Given the description of an element on the screen output the (x, y) to click on. 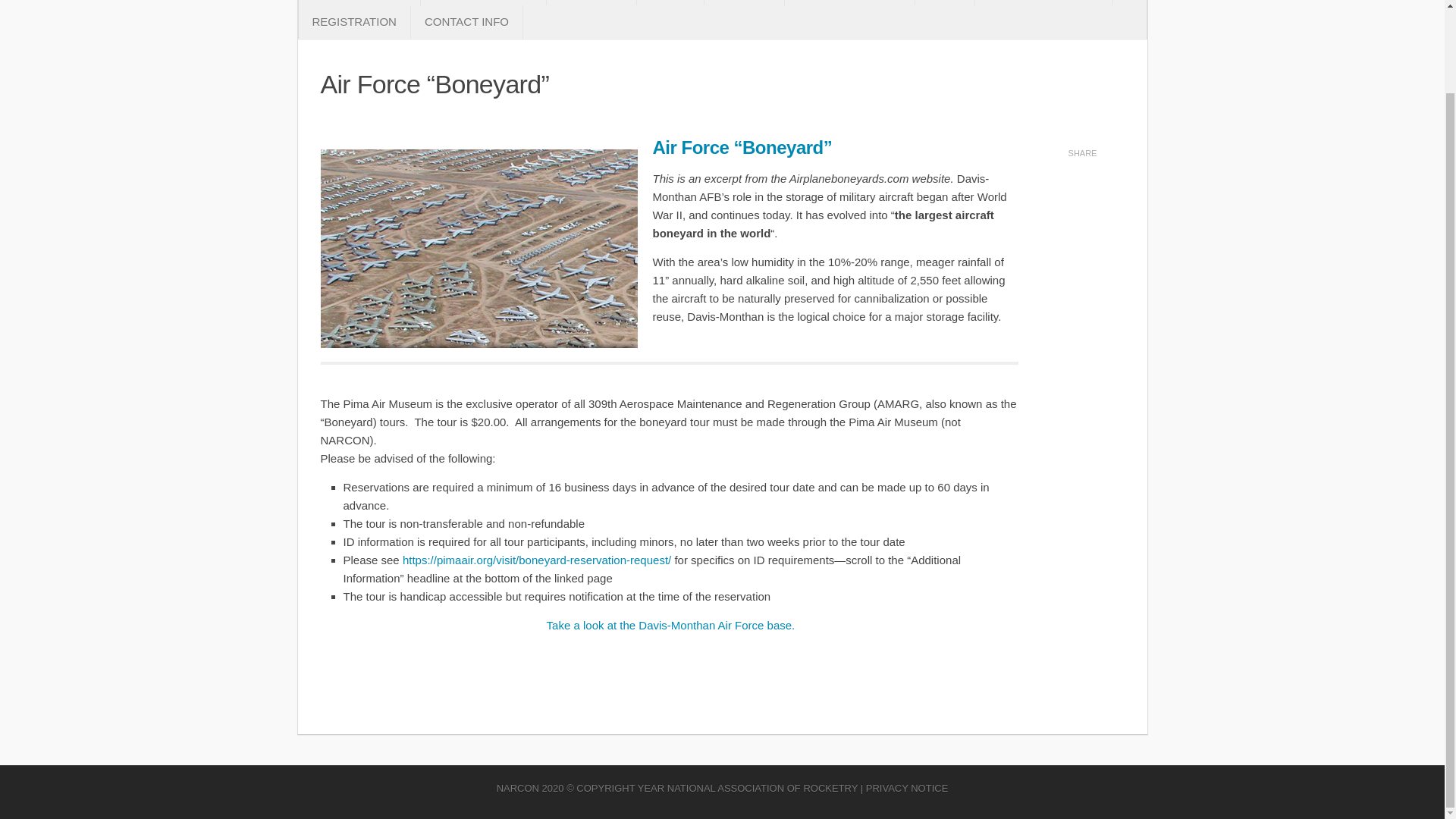
PRIVACY NOTICE (907, 787)
LATEST UPDATES (483, 2)
 Take a look at the Davis-Monthan Air Force base. (668, 625)
MANUFACTURERS (849, 2)
GALLERY (744, 2)
REGISTRATION (354, 21)
CONTACT INFO (466, 21)
NARCON 2020 (530, 787)
PRESENTATIONS (359, 2)
ACCOMMODATIONS (1044, 2)
